Given the description of an element on the screen output the (x, y) to click on. 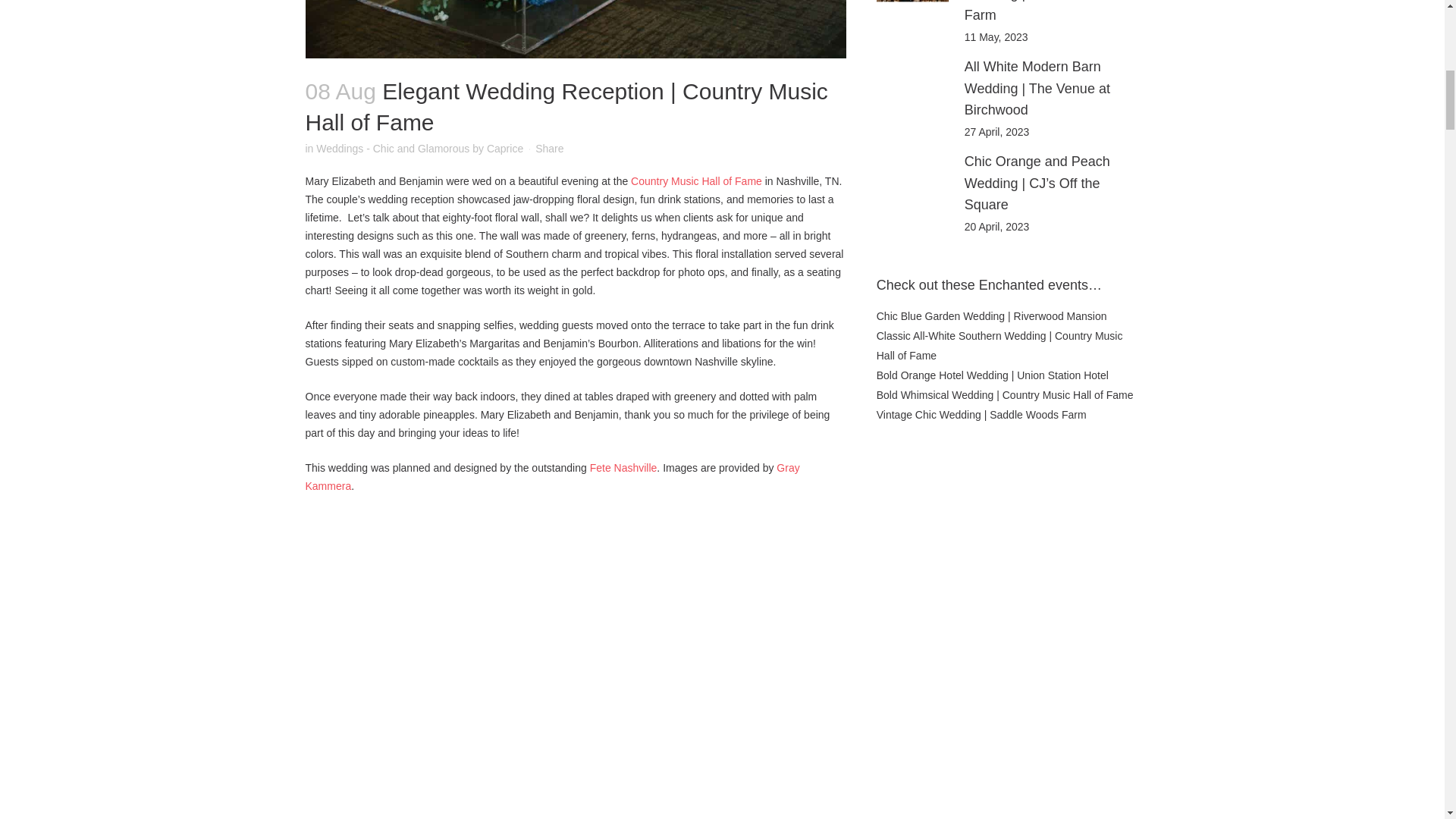
Fete Nashville (623, 467)
Gray Kammera (551, 476)
Share (549, 148)
Caprice (504, 148)
Weddings - Chic and Glamorous (391, 148)
Country Music Hall of Fame (695, 181)
